Given the description of an element on the screen output the (x, y) to click on. 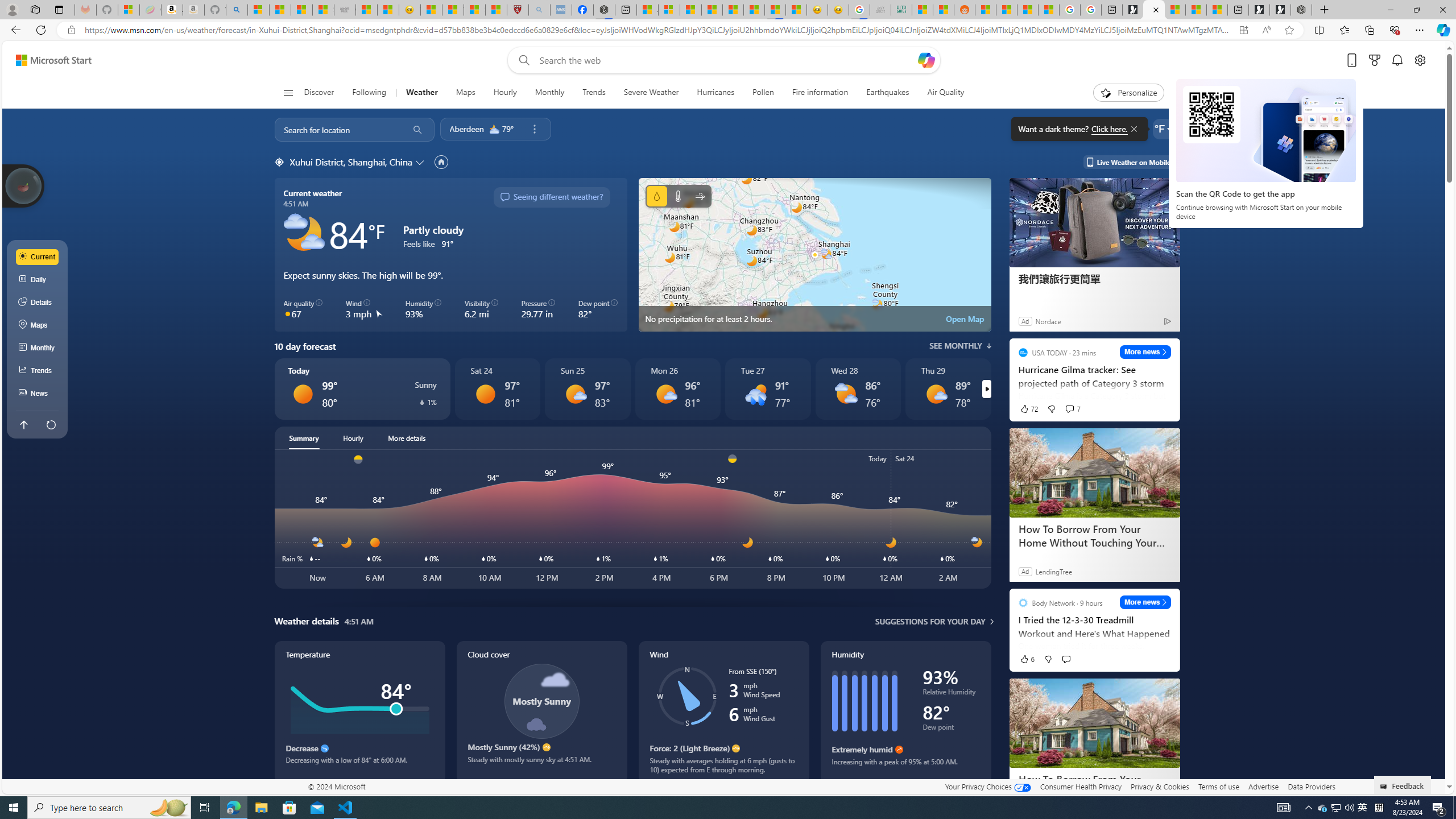
static map image of vector map (814, 254)
Sunny (484, 393)
Fire information (820, 92)
